Given the description of an element on the screen output the (x, y) to click on. 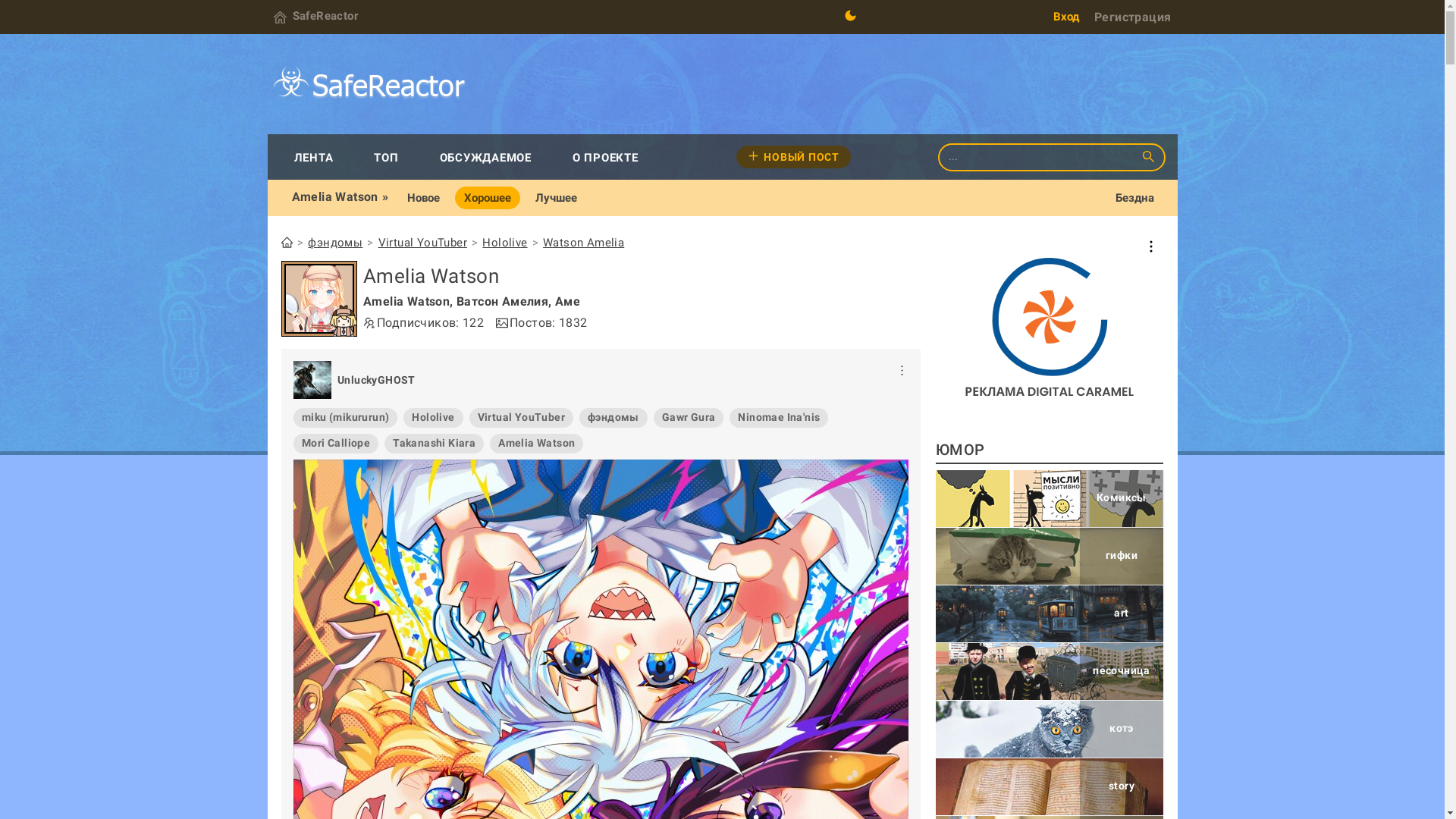
Gawr Gura Element type: text (688, 417)
UnluckyGHOST Element type: hover (312, 379)
Amelia Watson Element type: hover (319, 298)
Virtual YouTuber Element type: text (422, 242)
Takanashi Kiara Element type: text (433, 442)
Amelia Watson Element type: text (536, 442)
Virtual YouTuber Element type: text (520, 417)
Hololive Element type: text (432, 417)
story Element type: text (1049, 786)
art Element type: text (1049, 613)
Hololive Element type: text (504, 242)
miku (mikururun) Element type: text (345, 417)
UnluckyGHOST Element type: text (376, 379)
Mori Calliope Element type: text (335, 442)
Watson Amelia Element type: text (583, 242)
Ninomae Ina'nis Element type: text (778, 417)
